Given the description of an element on the screen output the (x, y) to click on. 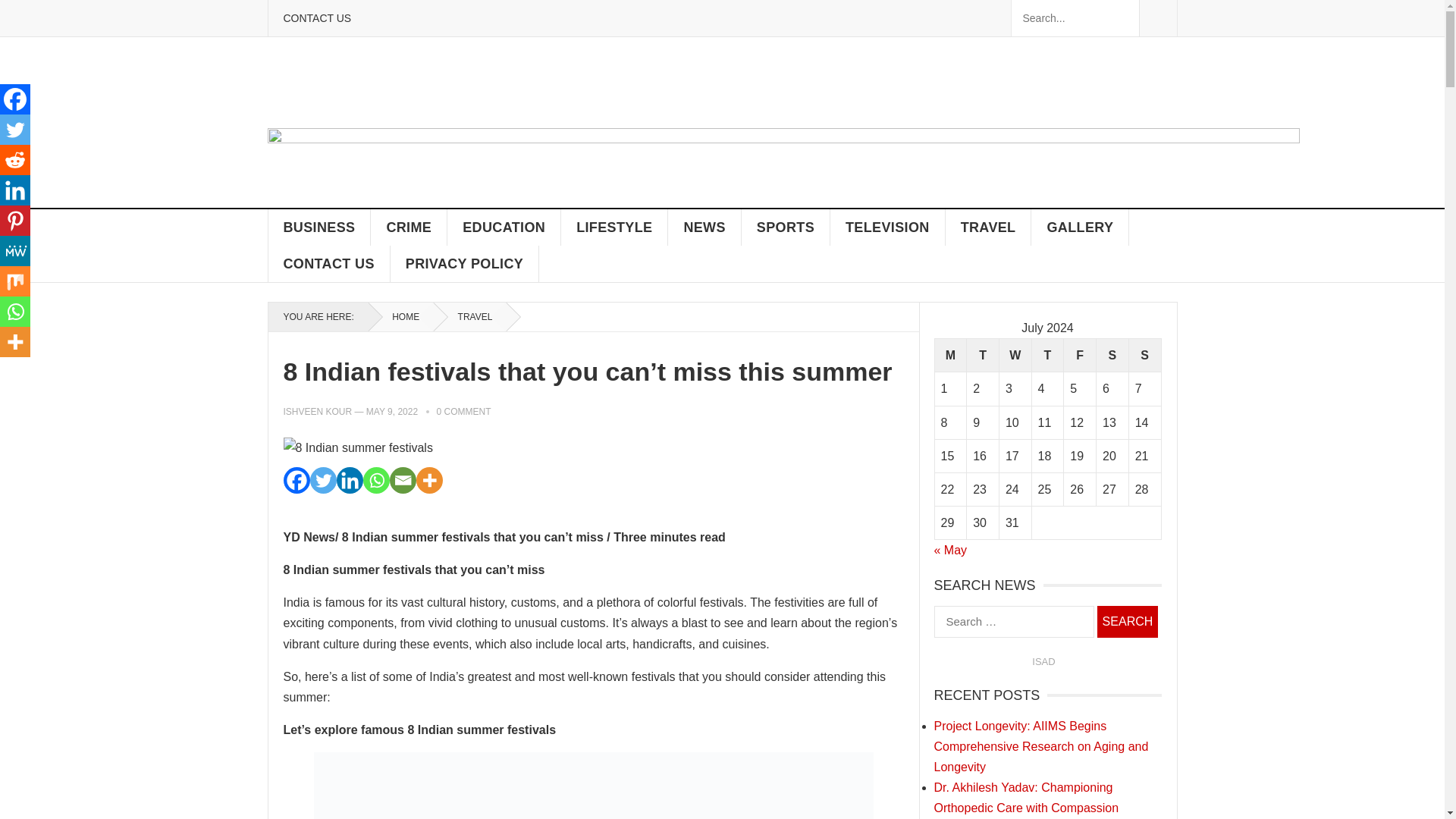
CONTACT US (316, 18)
Search (1127, 621)
TRAVEL (988, 227)
NEWS (704, 227)
CRIME (408, 227)
BUSINESS (319, 227)
Whatsapp (375, 479)
GALLERY (1079, 227)
Facebook (296, 479)
Twitter (322, 479)
ISHVEEN KOUR (317, 411)
SPORTS (785, 227)
HOME (400, 316)
Email (403, 479)
Search (1127, 621)
